Given the description of an element on the screen output the (x, y) to click on. 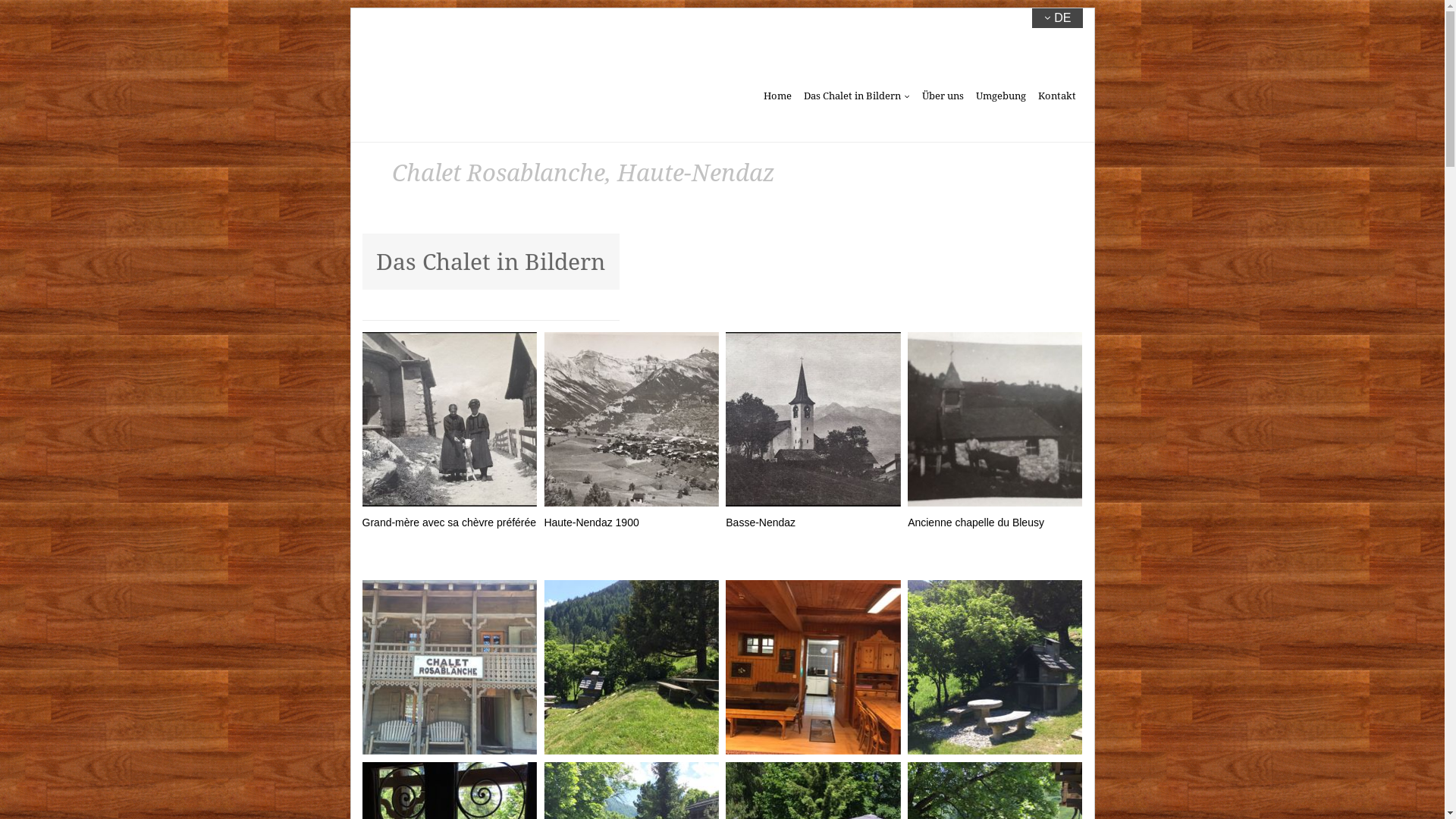
DE Element type: text (1057, 17)
Haute-Nendaz 1900 Element type: text (630, 435)
Basse-Nendaz Element type: text (812, 435)
Kontakt Element type: text (1057, 95)
Home Element type: text (777, 95)
Das Chalet in Bildern Element type: text (856, 95)
Umgebung Element type: text (1000, 95)
Ancienne chapelle du Bleusy Element type: text (994, 435)
